Given the description of an element on the screen output the (x, y) to click on. 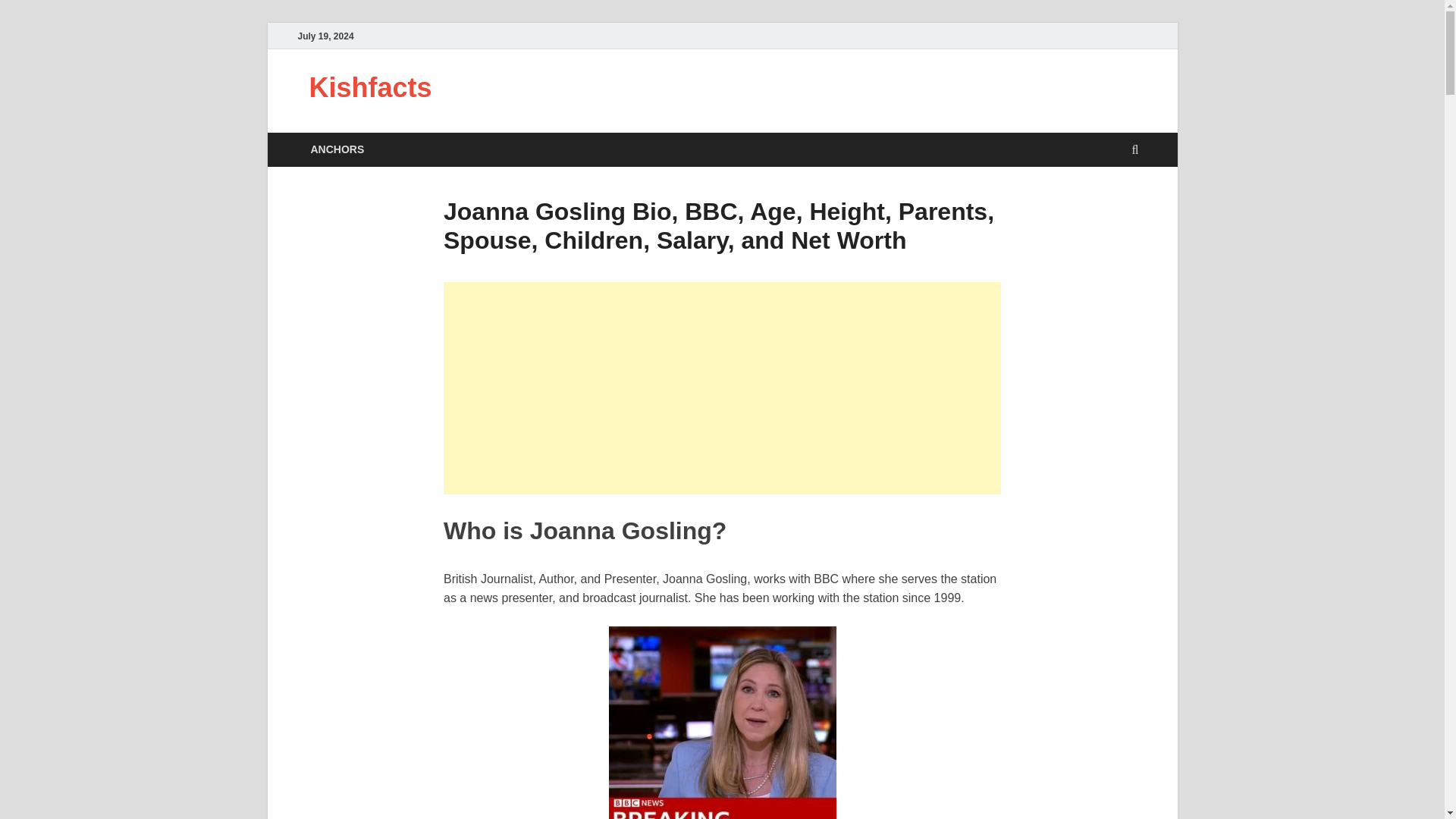
Advertisement (722, 387)
ANCHORS (337, 149)
Kishfacts (370, 87)
